Given the description of an element on the screen output the (x, y) to click on. 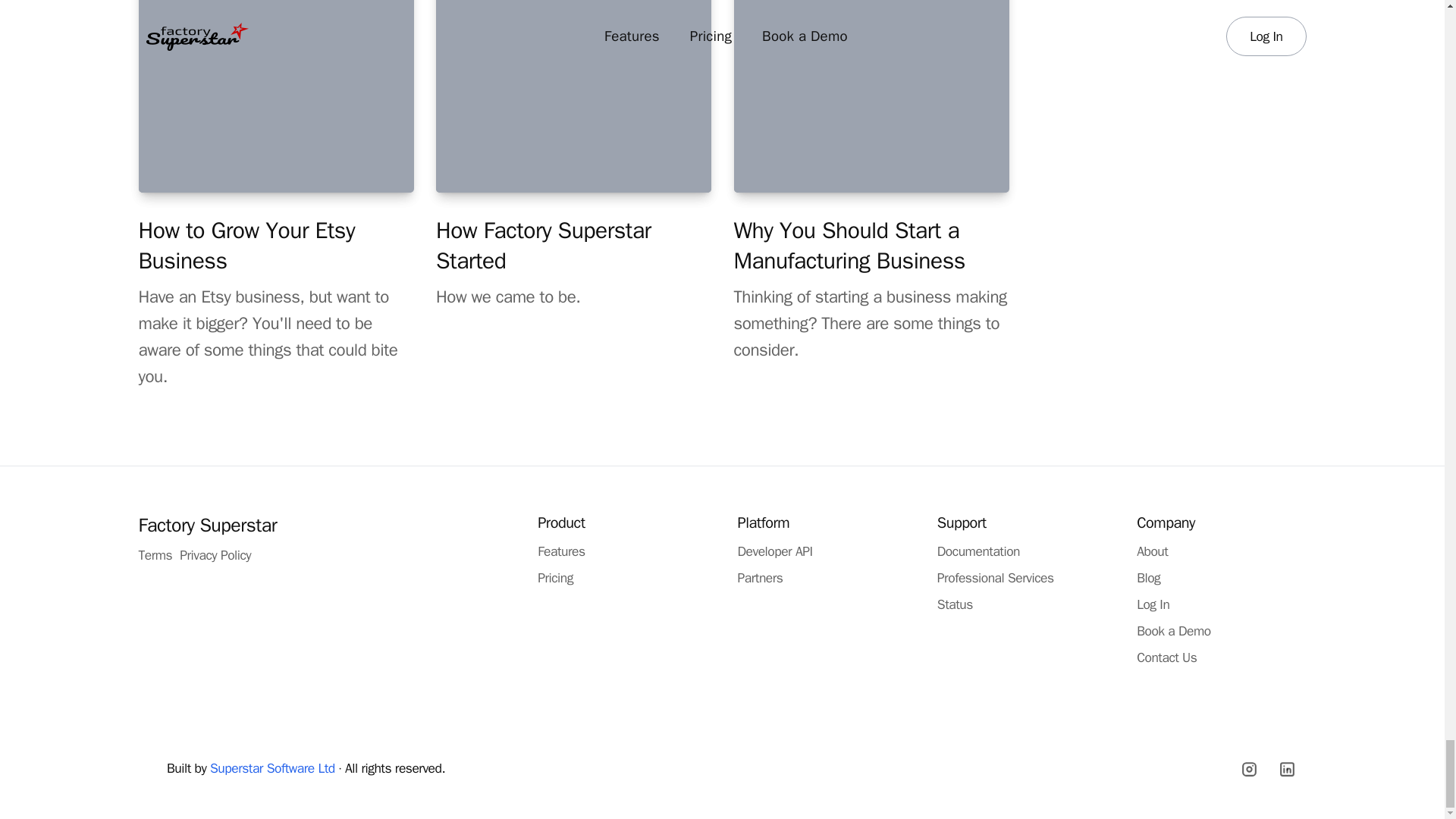
About (1152, 550)
Pricing (555, 577)
Log In (1153, 604)
How Factory Superstar Started (542, 245)
Factory Superstar (207, 524)
Status (954, 604)
Partners (759, 577)
Privacy Policy (214, 555)
Developer API (774, 550)
Professional Services (995, 577)
Book a Demo (1174, 630)
Features (561, 550)
Documentation (978, 550)
Why You Should Start a Manufacturing Business (849, 245)
Blog (1148, 577)
